Given the description of an element on the screen output the (x, y) to click on. 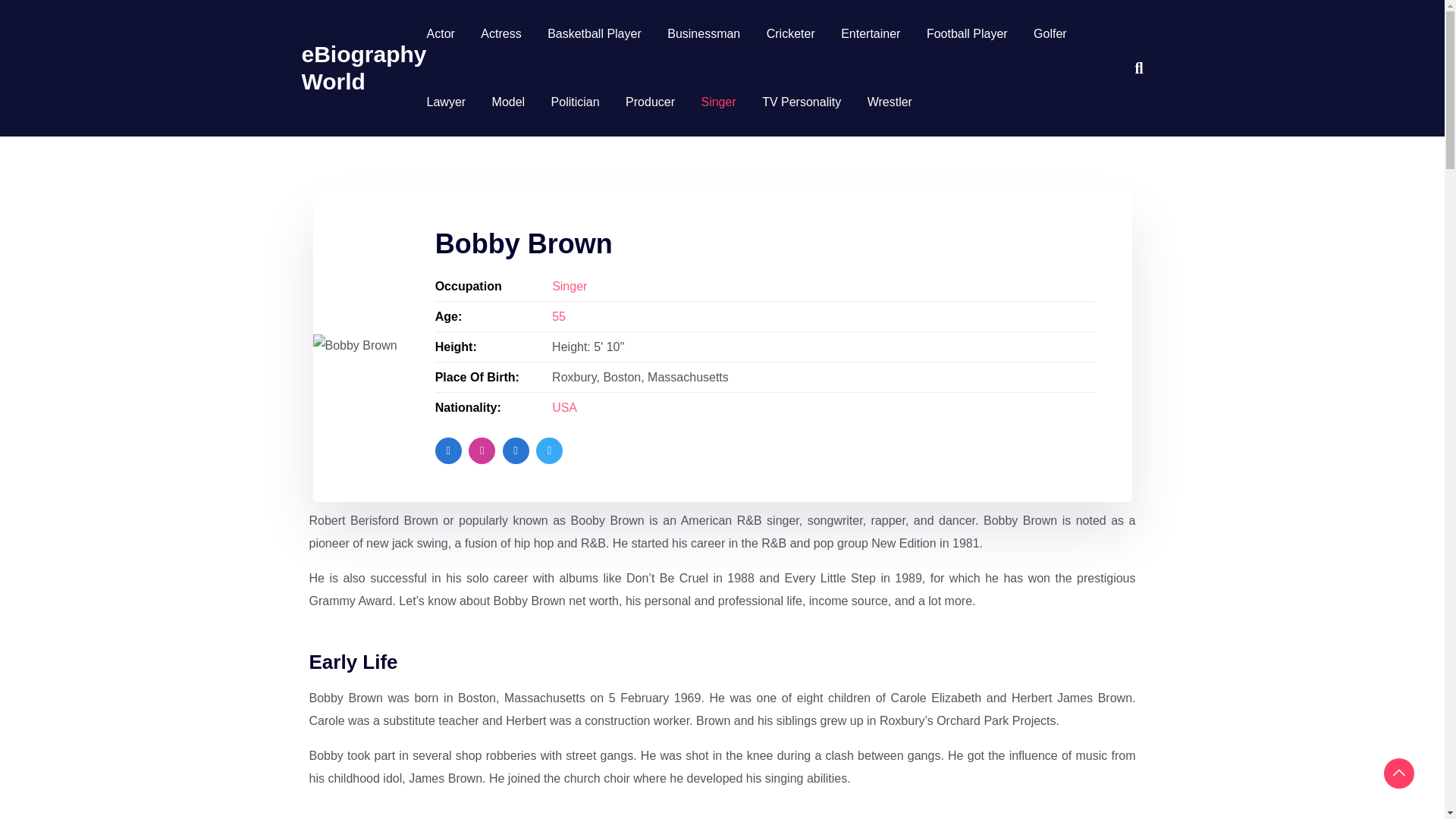
Lawyer (445, 101)
Singer (568, 286)
Actress (500, 33)
eBiography World (363, 67)
TV Personality (801, 101)
55 (558, 316)
Entertainer (870, 33)
USA (563, 407)
Golfer (1050, 33)
Basketball Player (594, 33)
Singer (717, 101)
Model (508, 101)
Businessman (702, 33)
Producer (650, 101)
Cricketer (791, 33)
